Given the description of an element on the screen output the (x, y) to click on. 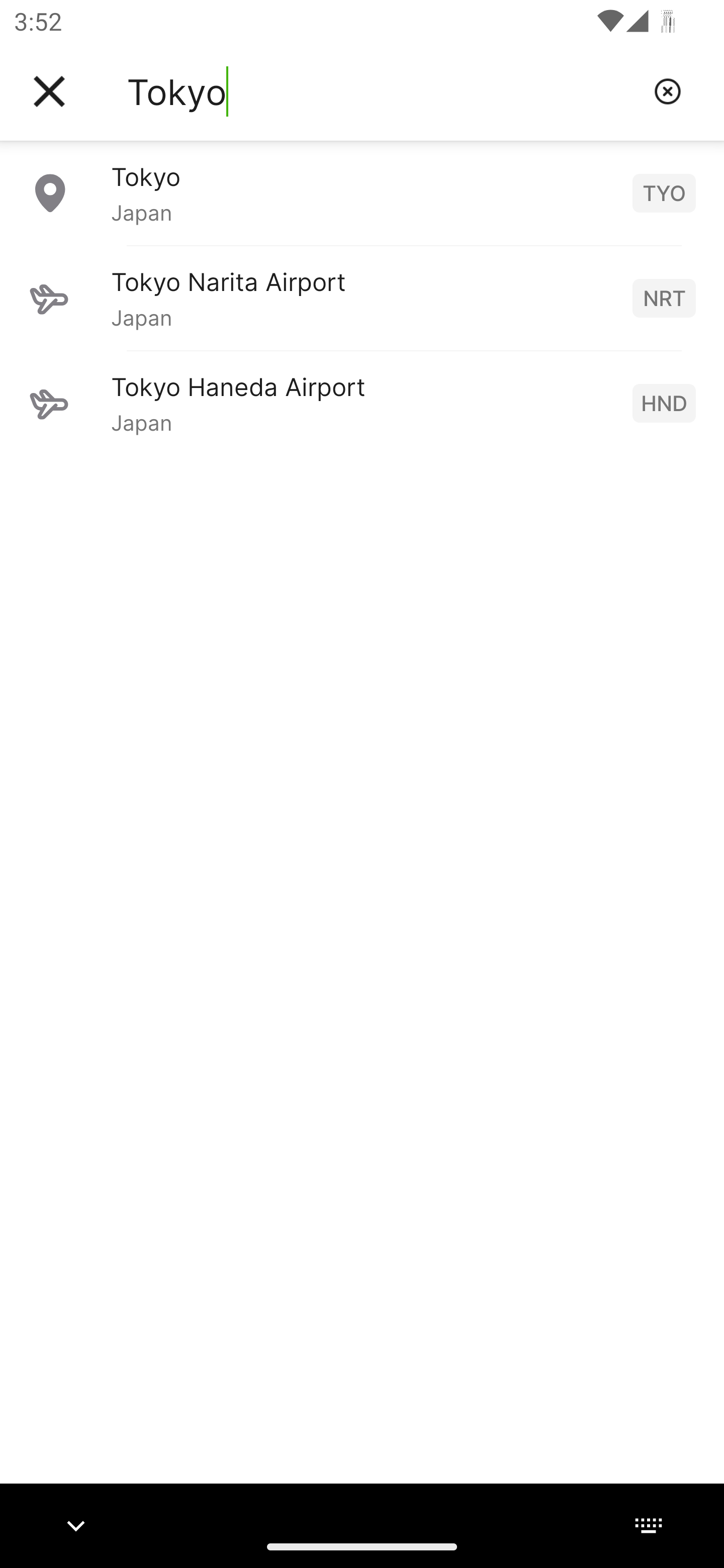
Tokyo (382, 91)
Tokyo Japan TYO (362, 192)
Tokyo Narita Airport Japan NRT (362, 297)
Tokyo Haneda Airport Japan HND (362, 402)
